Given the description of an element on the screen output the (x, y) to click on. 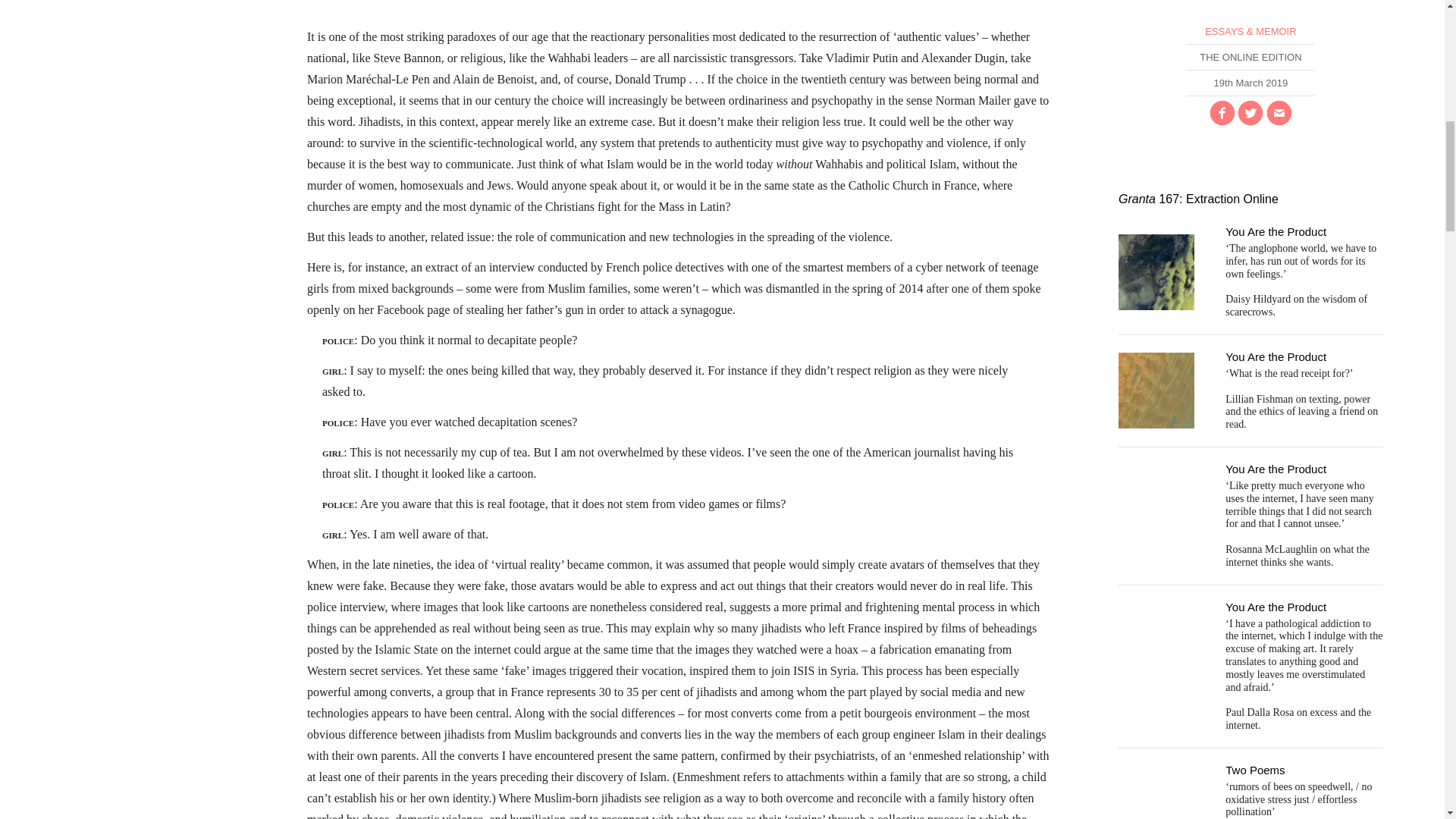
mail-with-circle Created with Sketch. (1279, 112)
facebook-with-circle Created with Sketch. (1221, 112)
twitter-with-circle Created with Sketch. (1250, 112)
